Given the description of an element on the screen output the (x, y) to click on. 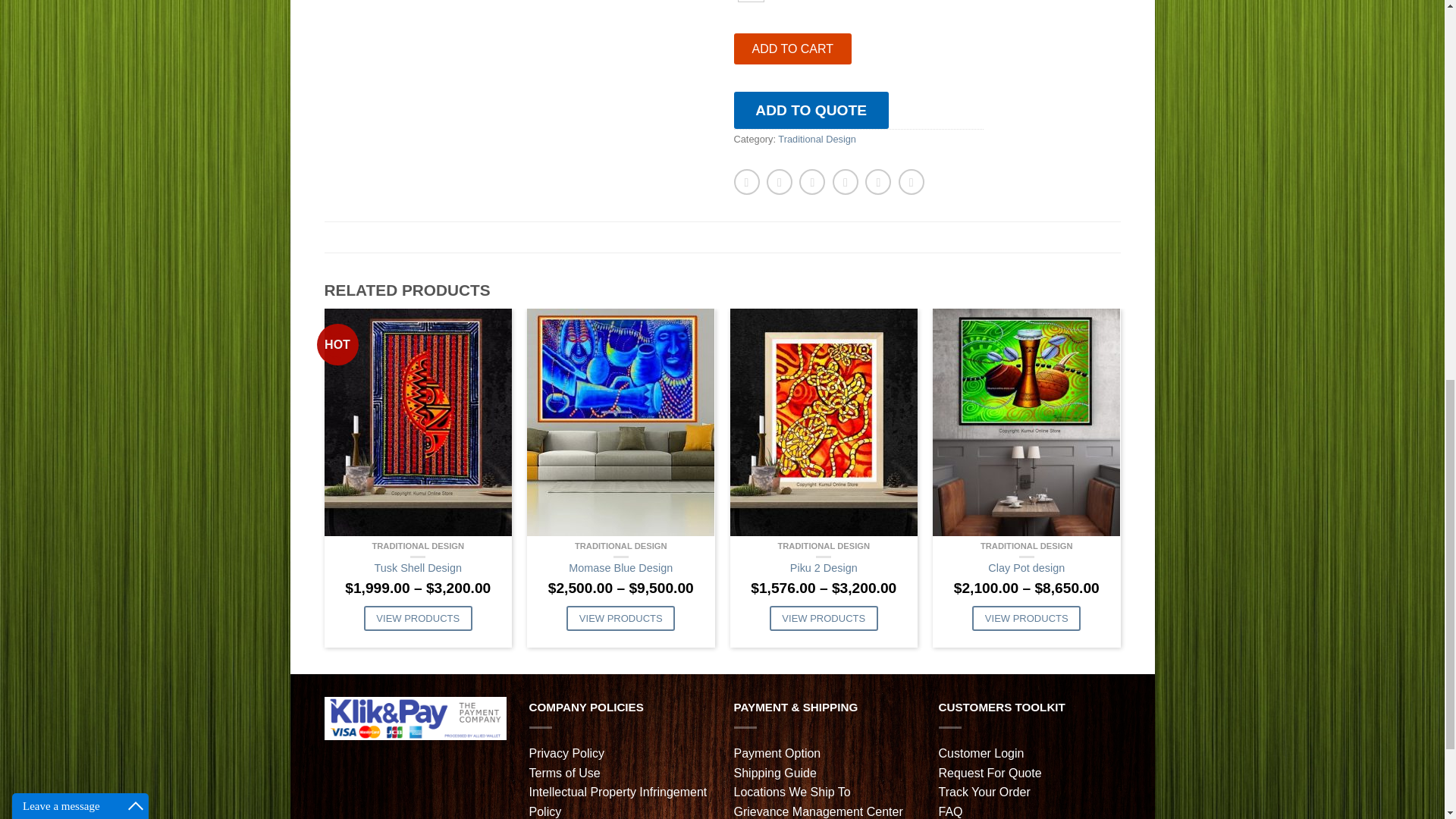
Traditional Design (816, 138)
ADD TO CART (792, 48)
ADD TO QUOTE (810, 108)
0 (749, 1)
